Given the description of an element on the screen output the (x, y) to click on. 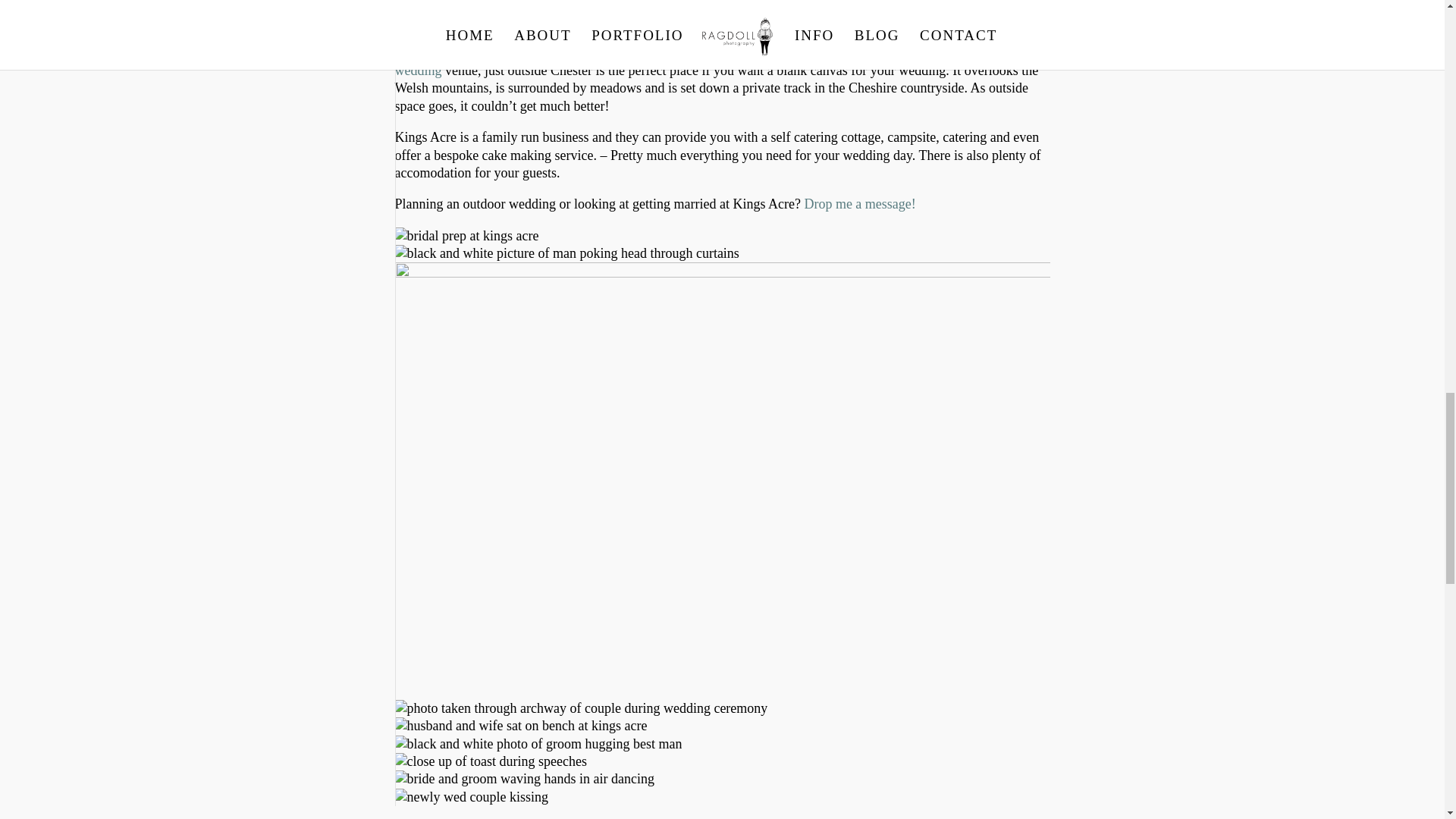
Kings Acre wedding (713, 61)
Drop me a message! (859, 203)
